Given the description of an element on the screen output the (x, y) to click on. 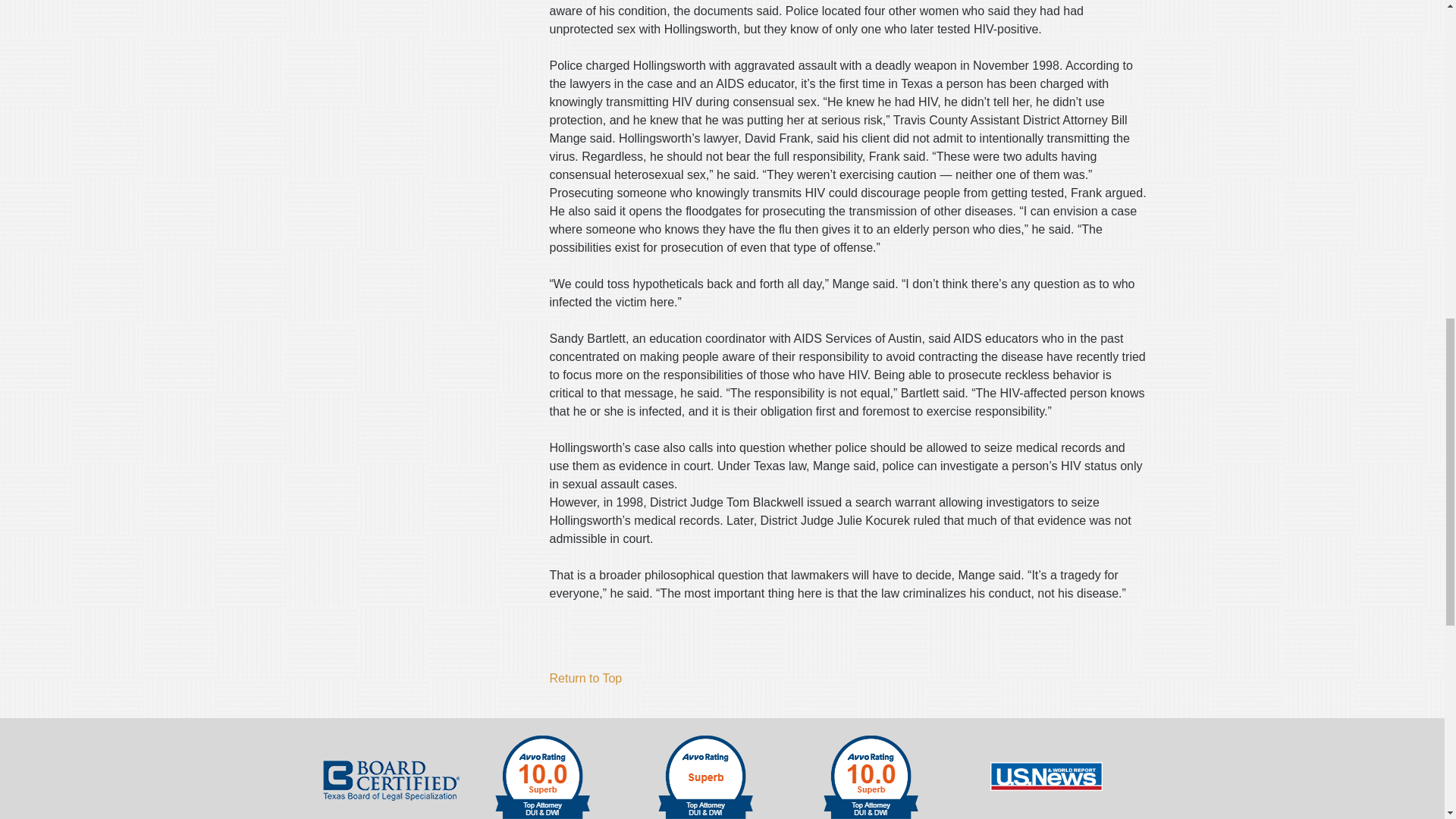
Austin Criminal Defense Lawyer - DWI (539, 775)
Austin Criminal Defense Lawyer (1046, 776)
Austin Criminal Defense Lawyer (391, 780)
Return to Top (584, 677)
Austin Criminal Defense Lawyer (702, 775)
Austin Criminal Defense Lawyer (867, 775)
